Given the description of an element on the screen output the (x, y) to click on. 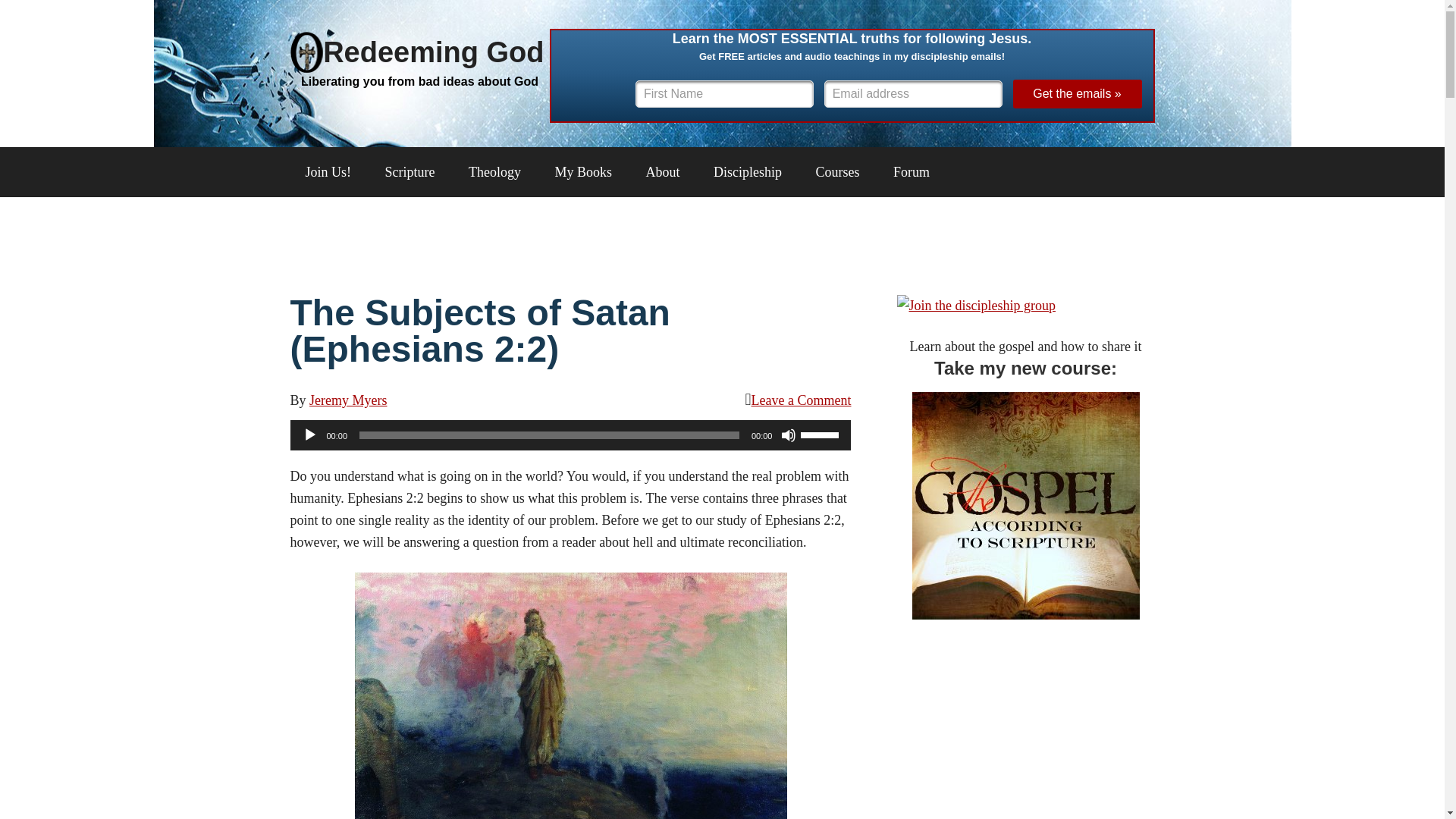
Play (309, 435)
Courses (837, 172)
Theology (493, 172)
Advertisement (1025, 737)
Forum (910, 172)
Jeremy Myers (347, 400)
My Books (583, 172)
Scripture (409, 172)
Discipleship (747, 172)
Advertisement (722, 238)
Join Us! (327, 172)
Redeeming God (416, 51)
Leave a Comment (801, 400)
About (662, 172)
Mute (788, 435)
